Given the description of an element on the screen output the (x, y) to click on. 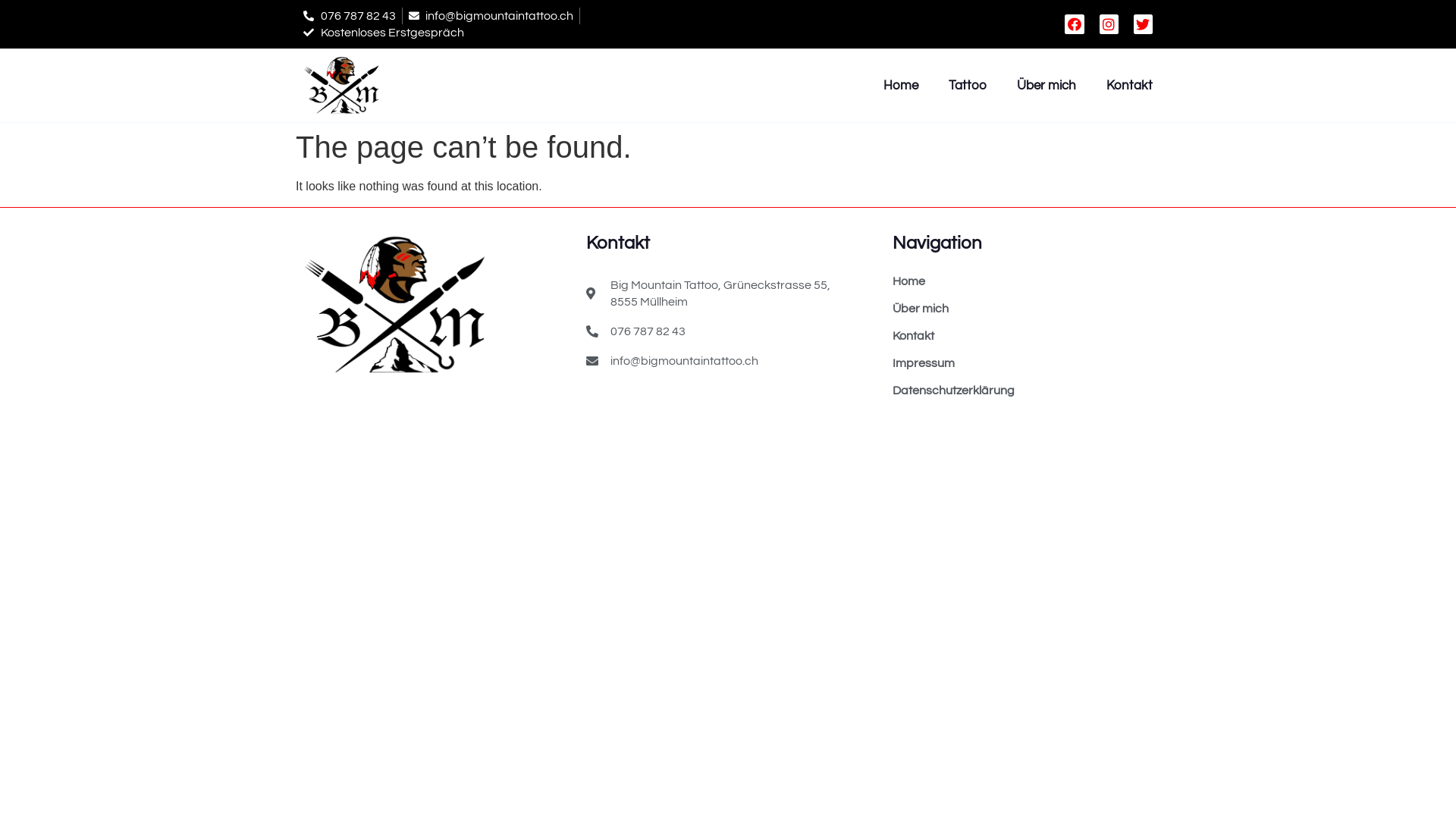
076 787 82 43 Element type: text (738, 331)
Impressum Element type: text (1021, 362)
info@bigmountaintattoo.ch Element type: text (738, 360)
Kontakt Element type: text (1129, 85)
Home Element type: text (900, 85)
076 787 82 43 Element type: text (349, 15)
Home Element type: text (1021, 280)
Kontakt Element type: text (1021, 335)
Tattoo Element type: text (967, 85)
info@bigmountaintattoo.ch Element type: text (490, 15)
